Given the description of an element on the screen output the (x, y) to click on. 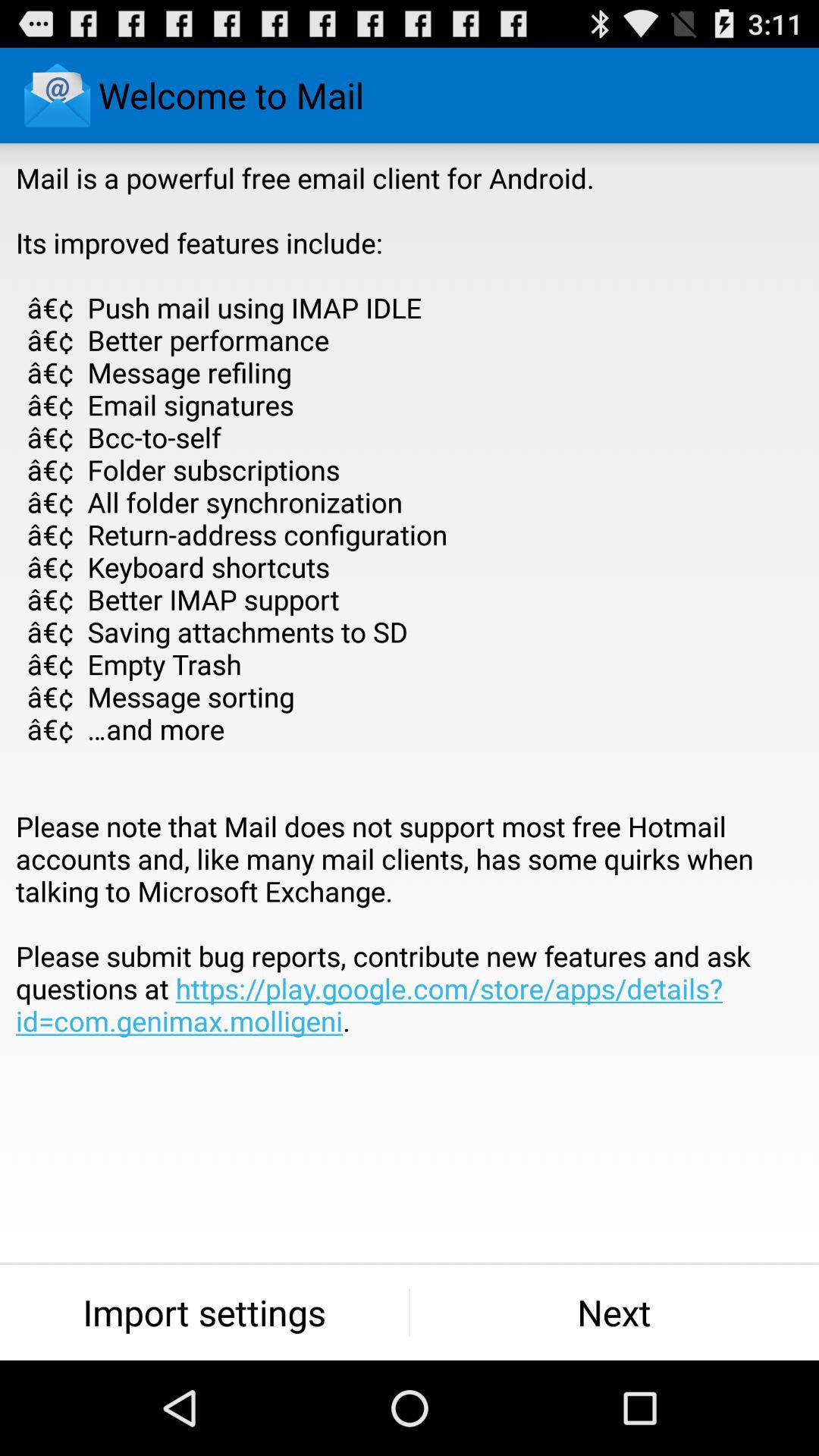
turn on icon at the center (409, 631)
